Given the description of an element on the screen output the (x, y) to click on. 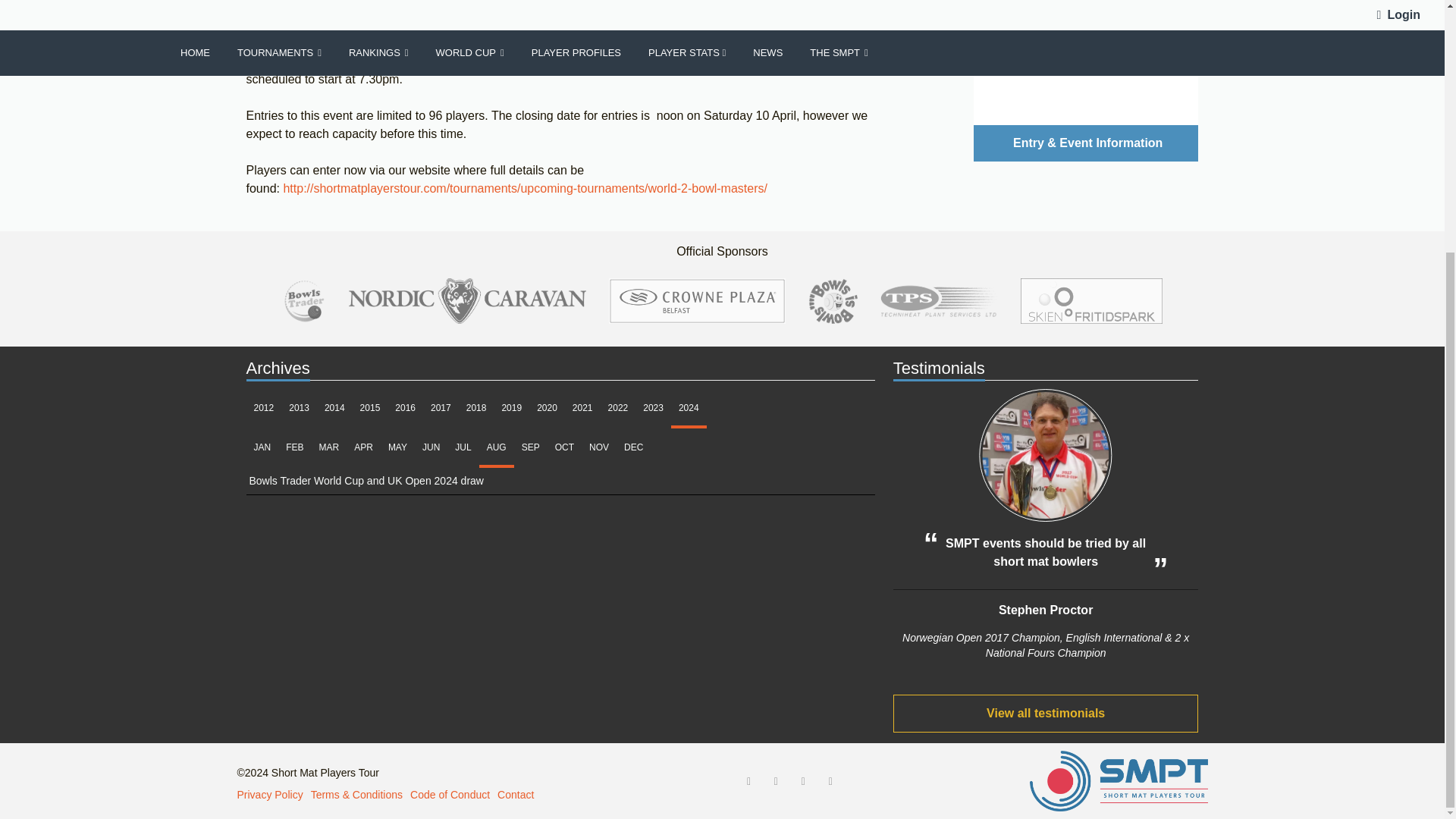
Facebook (748, 781)
Email SMPT (830, 781)
Twitter (775, 781)
Instagram (802, 781)
